Given the description of an element on the screen output the (x, y) to click on. 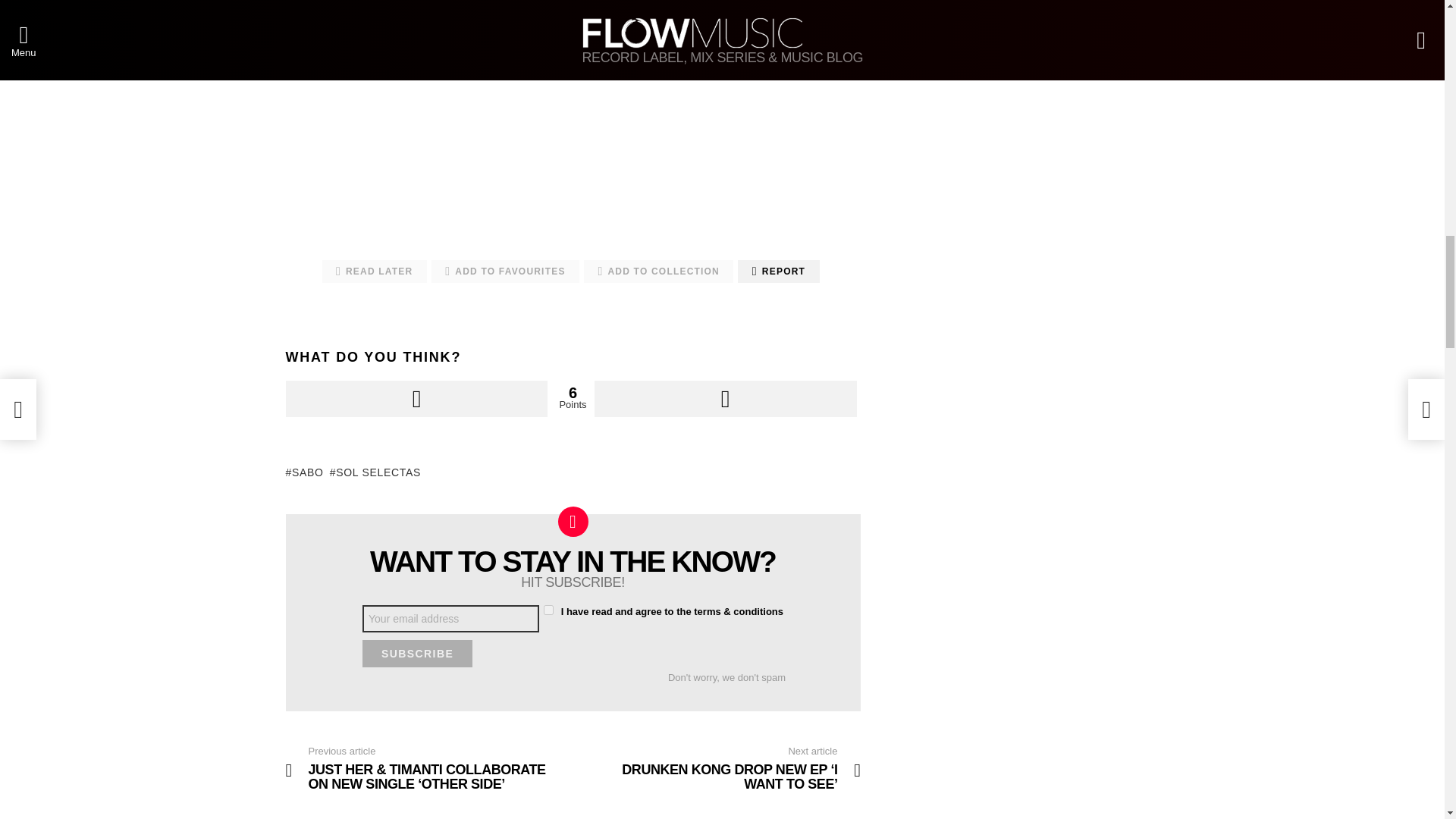
SUBSCRIBE (416, 653)
READ LATER (373, 271)
1 (548, 610)
